Given the description of an element on the screen output the (x, y) to click on. 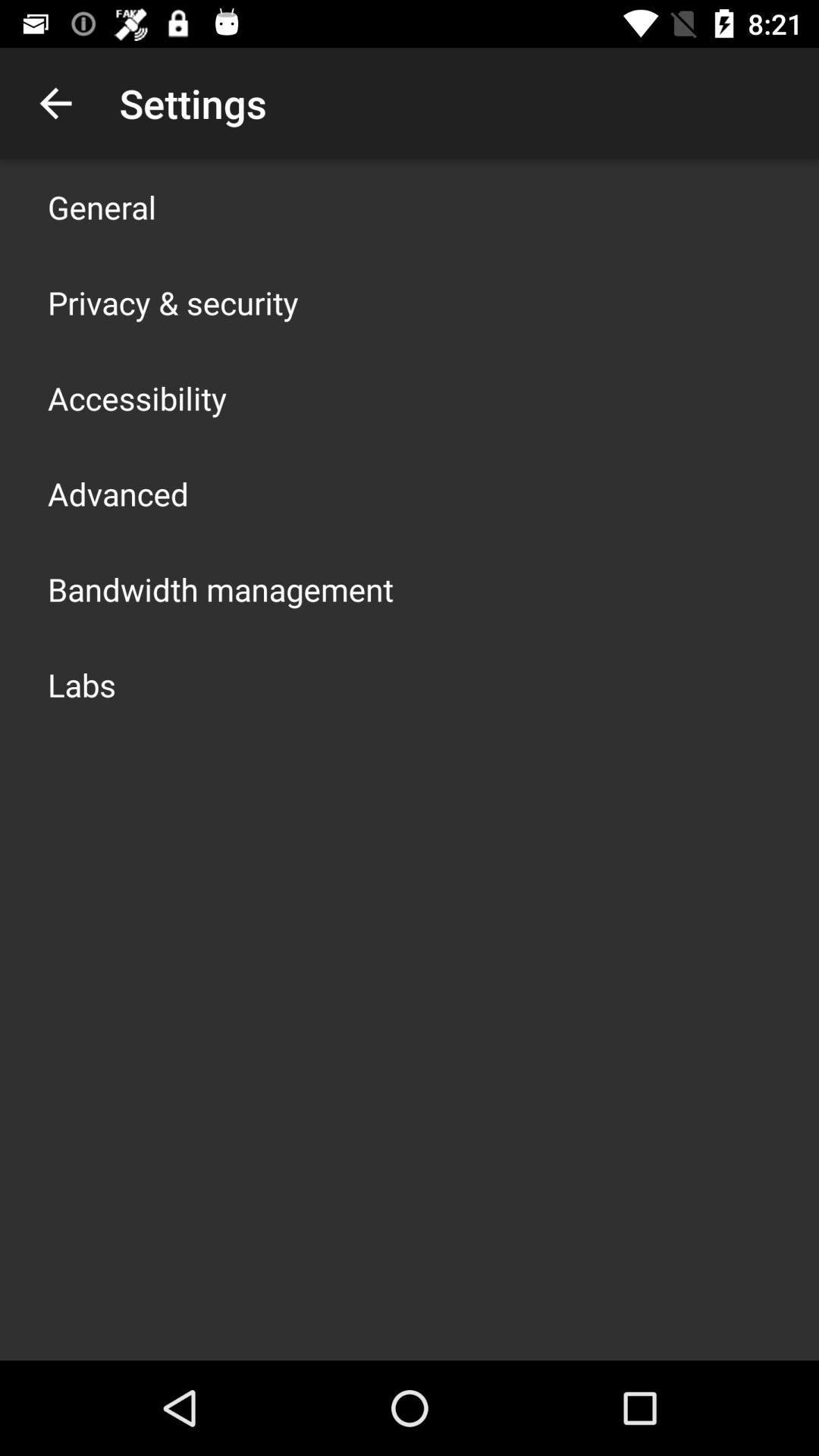
open the accessibility item (136, 397)
